Given the description of an element on the screen output the (x, y) to click on. 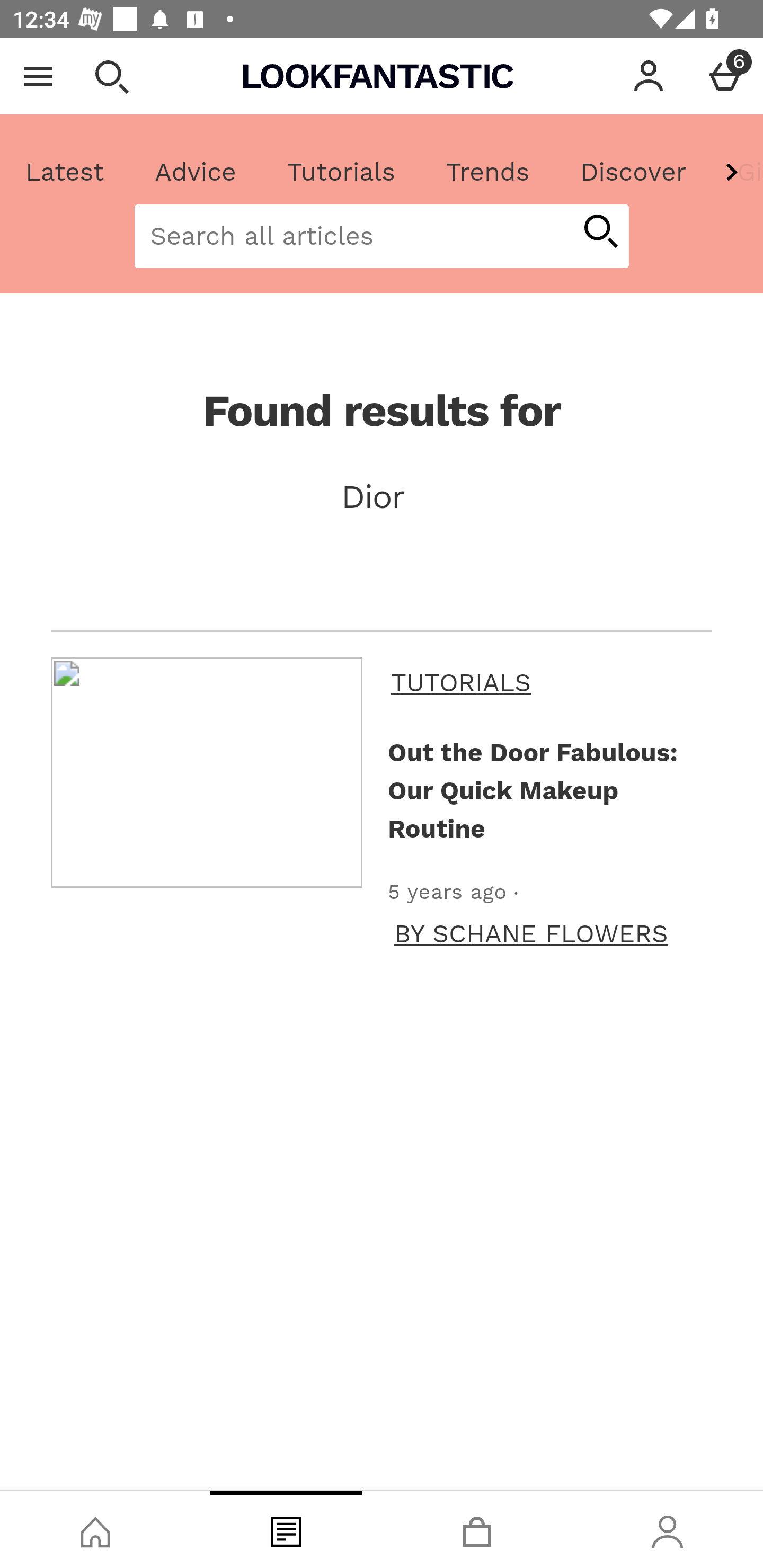
Open Menu (38, 75)
Open search (111, 75)
Account (648, 75)
Basket Menu (724, 75)
Latest (65, 172)
Advice (195, 172)
Tutorials (340, 172)
Trends (486, 172)
Discover (632, 172)
Gift Guide (736, 172)
start article search (599, 232)
Dior (381, 496)
TUTORIALS (547, 682)
Out the Door Fabulous: Our Quick Makeup Routine (546, 790)
BY SCHANE FLOWERS (531, 933)
Shop, tab, 1 of 4 (95, 1529)
Blog, tab, 2 of 4 (285, 1529)
Basket, tab, 3 of 4 (476, 1529)
Account, tab, 4 of 4 (667, 1529)
